Given the description of an element on the screen output the (x, y) to click on. 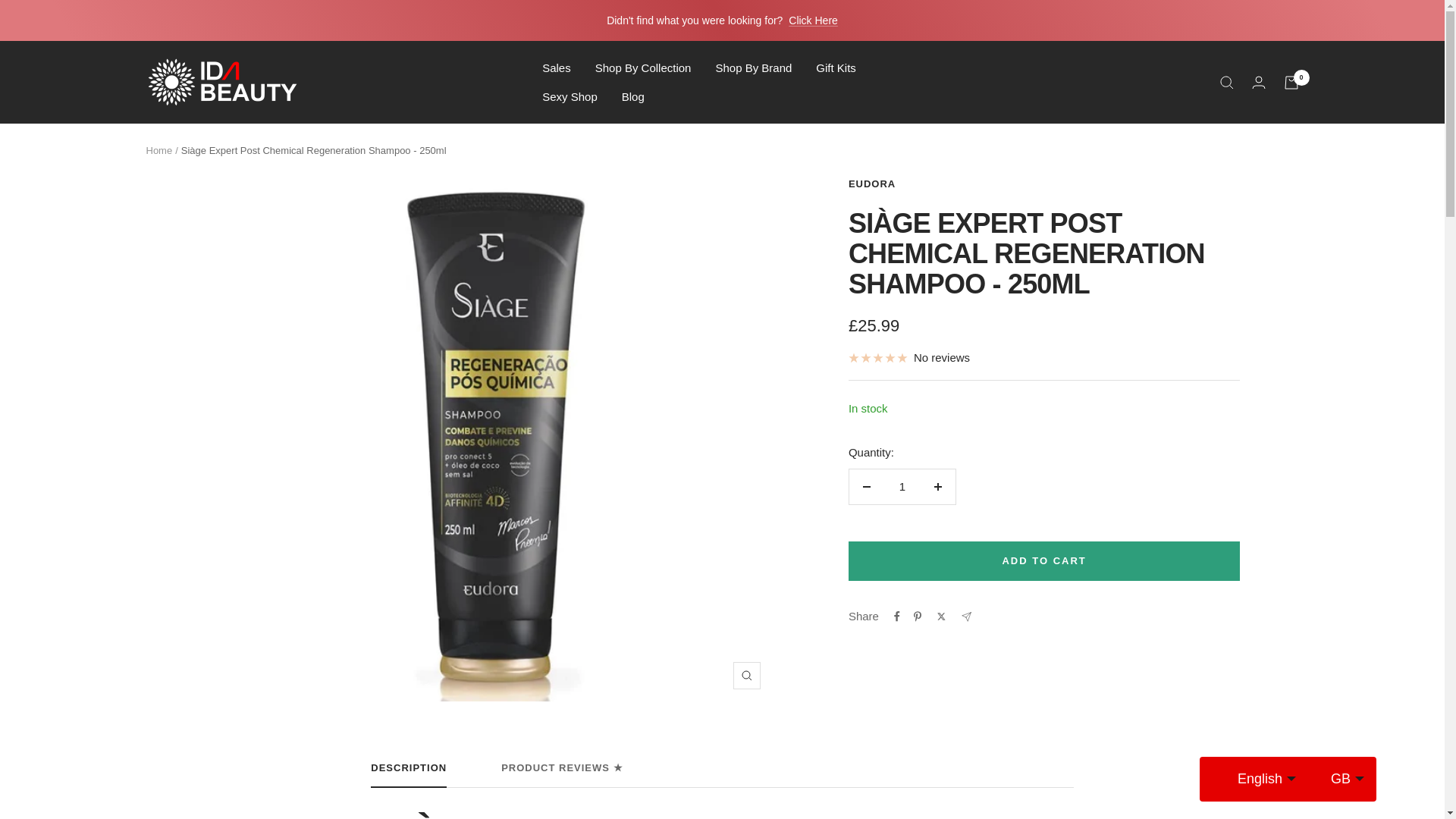
1 (901, 486)
Decrease quantity (865, 486)
Sales (555, 67)
Gift Kits (835, 67)
Sexy Shop (568, 96)
No reviews (908, 357)
Shop By Collection (643, 67)
Increase quantity (937, 486)
Home (158, 150)
ADD TO CART (1044, 560)
